Given the description of an element on the screen output the (x, y) to click on. 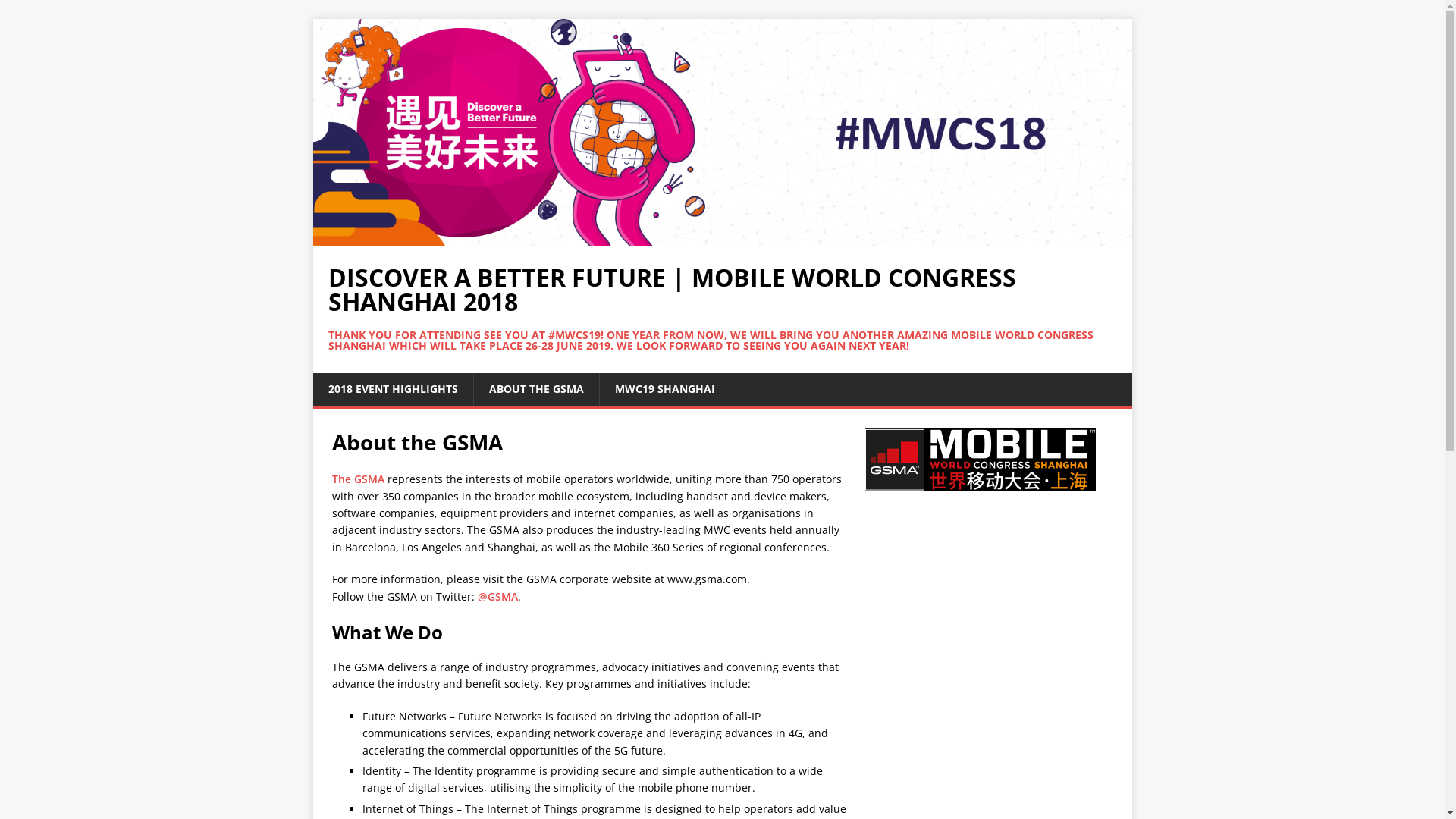
@GSMA Element type: text (497, 596)
The GSMA Element type: text (358, 478)
ABOUT THE GSMA Element type: text (536, 388)
MWC19 SHANGHAI Element type: text (664, 388)
2018 EVENT HIGHLIGHTS Element type: text (392, 388)
